Given the description of an element on the screen output the (x, y) to click on. 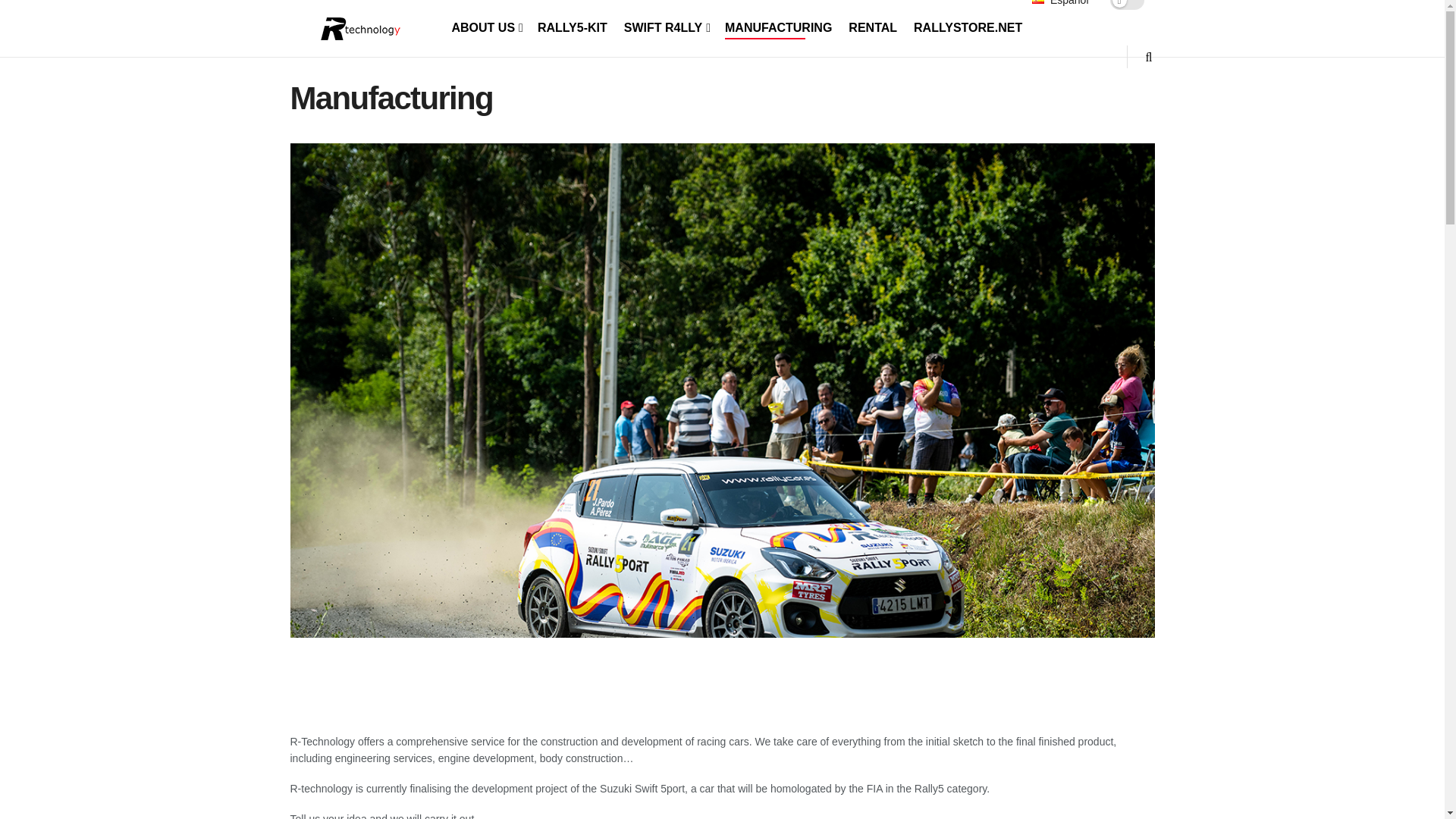
RALLY5-KIT (572, 27)
RENTAL (872, 27)
ABOUT US (486, 27)
MANUFACTURING (778, 27)
RALLYSTORE.NET (968, 27)
SWIFT R4LLY (665, 27)
